Given the description of an element on the screen output the (x, y) to click on. 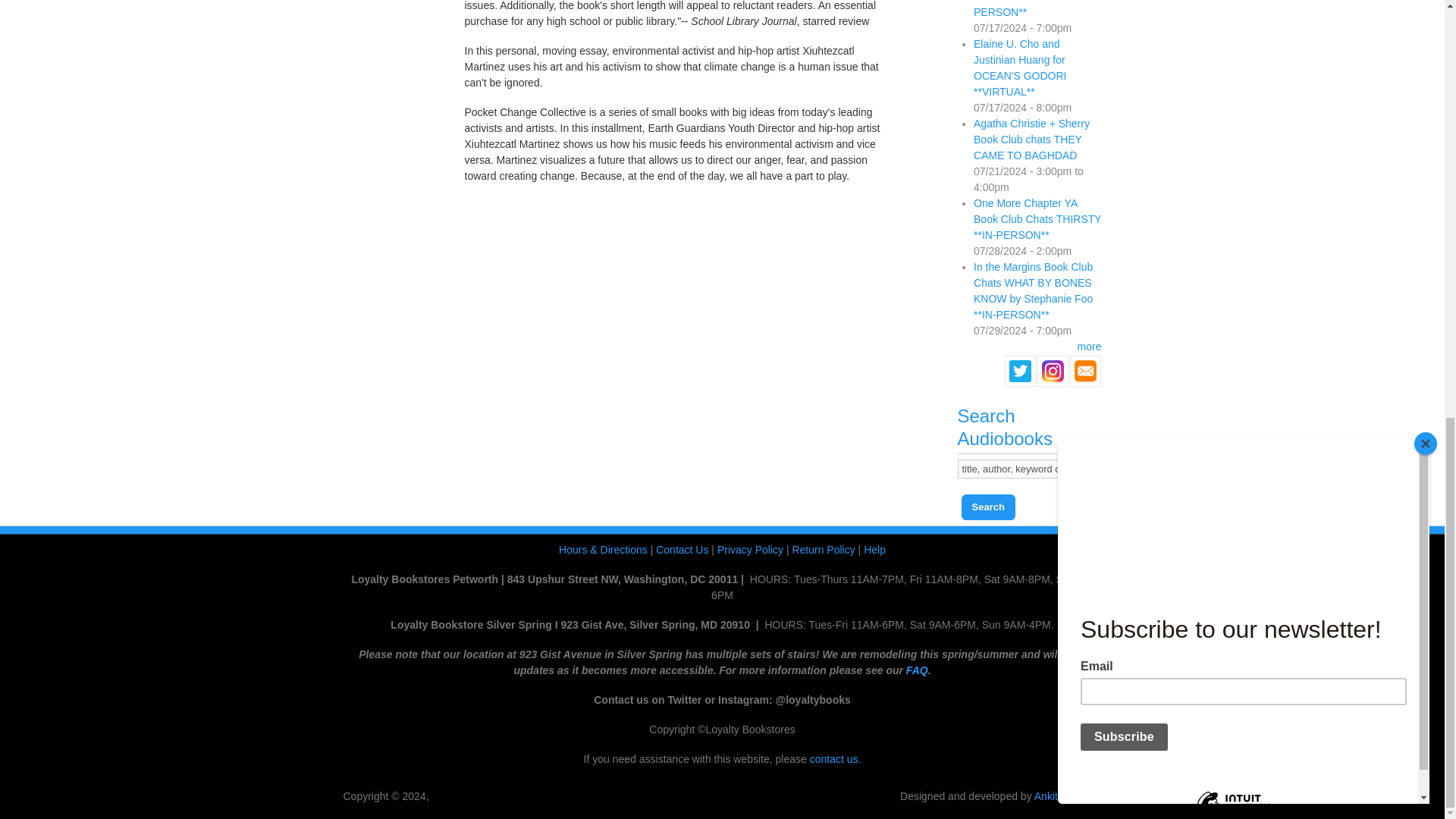
more (1089, 346)
title, author, keyword or ISBN (1037, 468)
Enter title, author, keyword or ISBN. (1037, 468)
Search (987, 507)
